Given the description of an element on the screen output the (x, y) to click on. 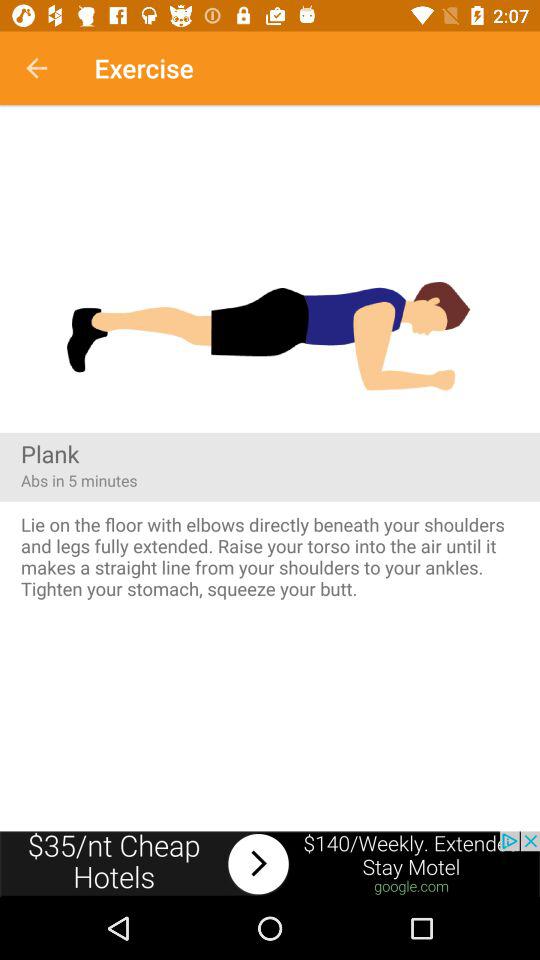
click hotel advertisement (270, 864)
